Given the description of an element on the screen output the (x, y) to click on. 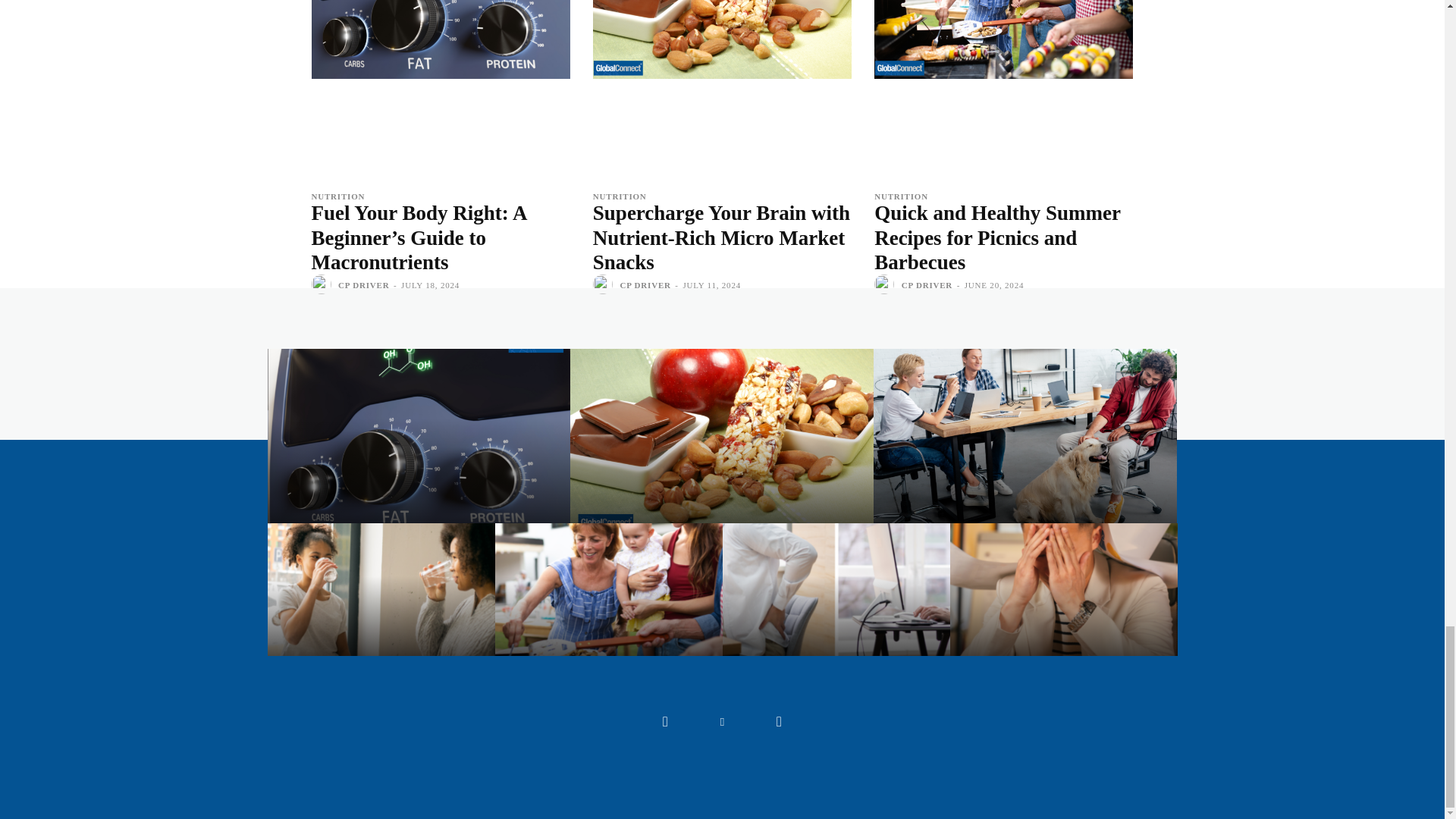
Quick and Healthy Summer Recipes for Picnics and Barbecues (998, 237)
Quick and Healthy Summer Recipes for Picnics and Barbecues (1003, 39)
